Given the description of an element on the screen output the (x, y) to click on. 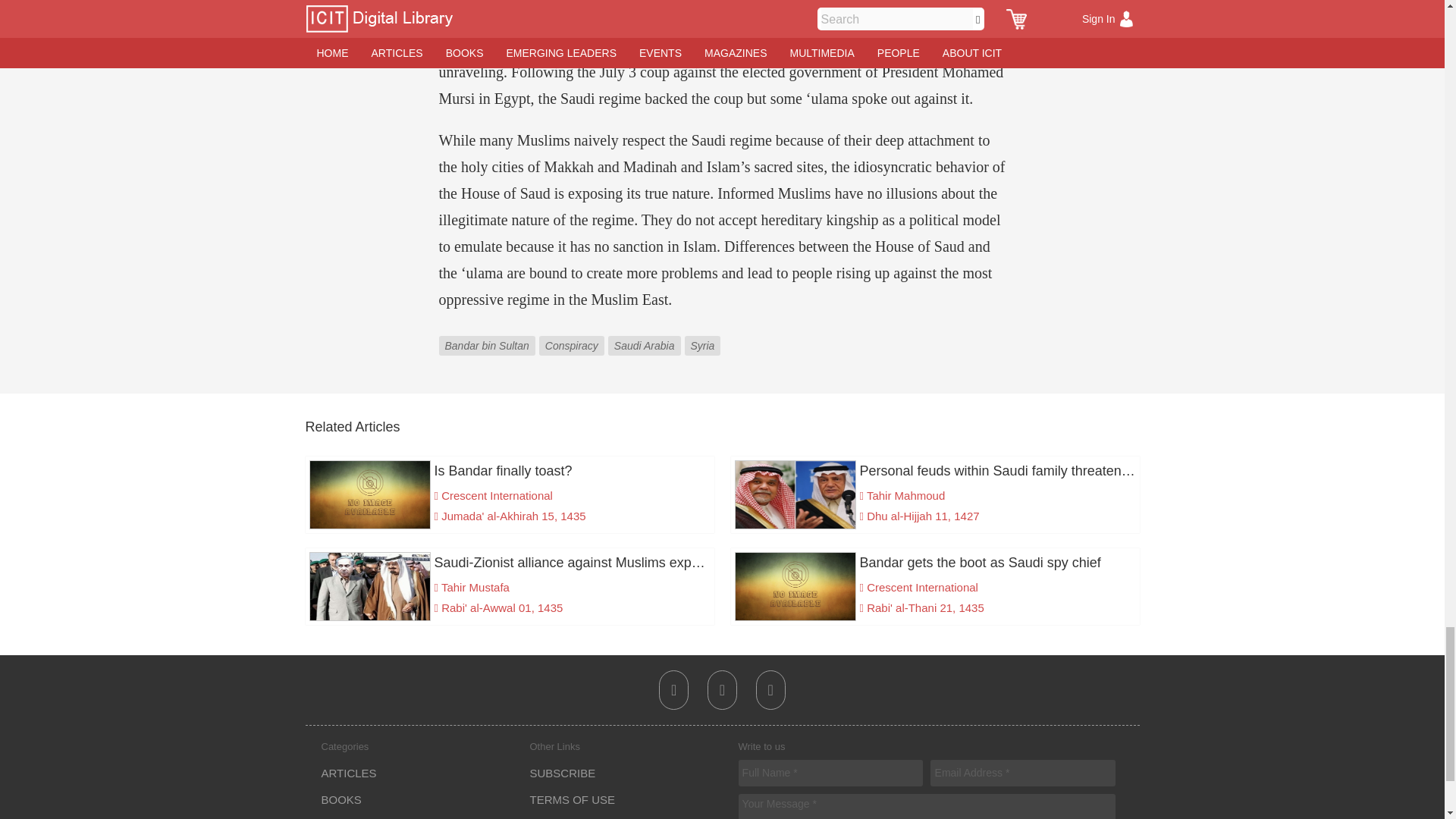
Bandar gets the boot as Saudi spy chief (934, 562)
Saudi-Zionist alliance against Muslims exposed (509, 562)
Syria (703, 334)
Crescent International (922, 586)
Is Bandar finally toast? (509, 470)
Saudi Arabia (646, 334)
Tahir Mustafa (475, 586)
Is Bandar finally toast? (509, 470)
Bandar bin Sultan (488, 334)
Conspiracy (573, 334)
Crescent International (497, 495)
Bandar gets the boot as Saudi spy chief (934, 562)
Tahir Mahmoud (905, 495)
Saudi-Zionist alliance against Muslims exposed (509, 562)
